Given the description of an element on the screen output the (x, y) to click on. 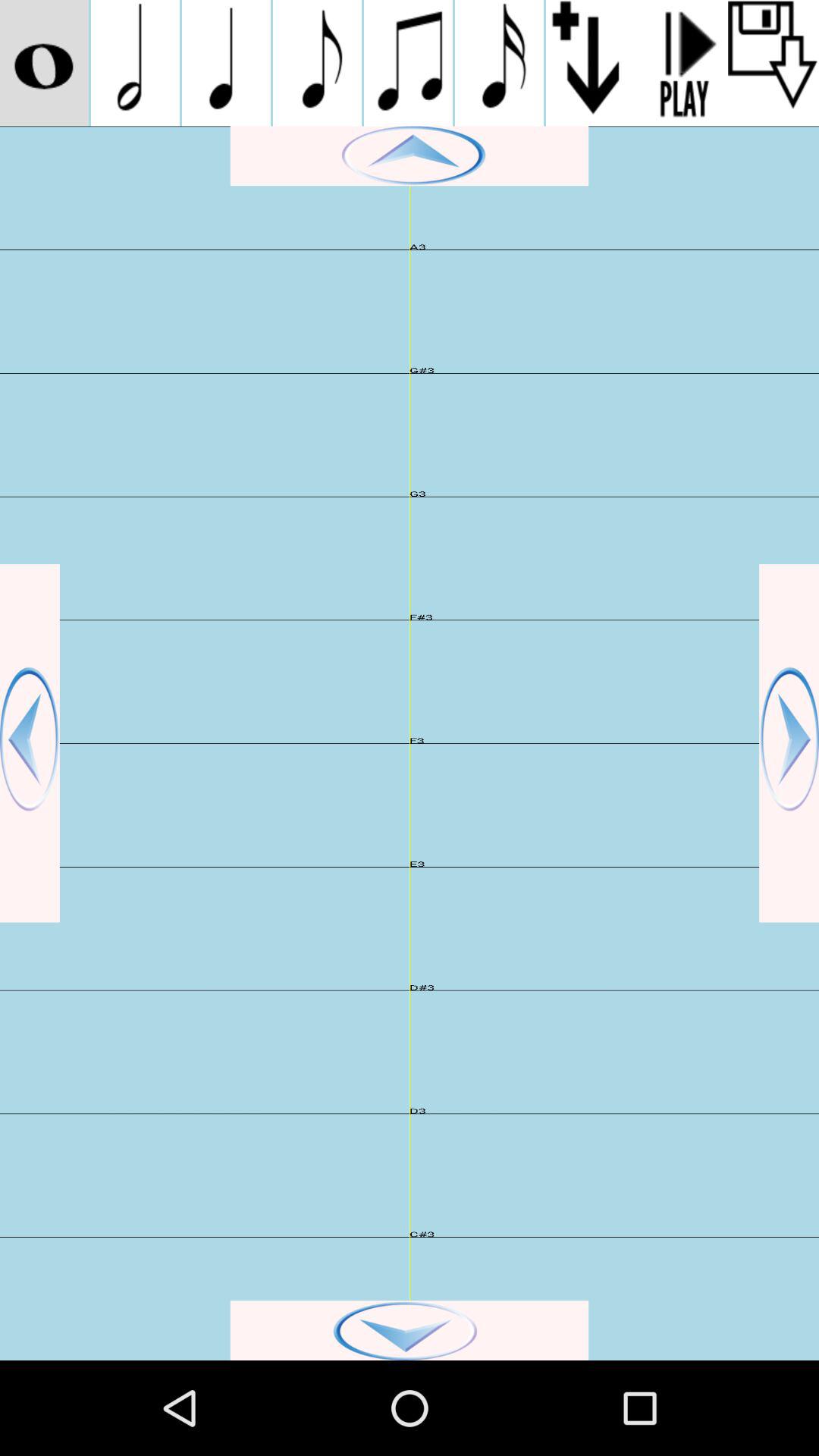
musical note playing on the screen (499, 63)
